Given the description of an element on the screen output the (x, y) to click on. 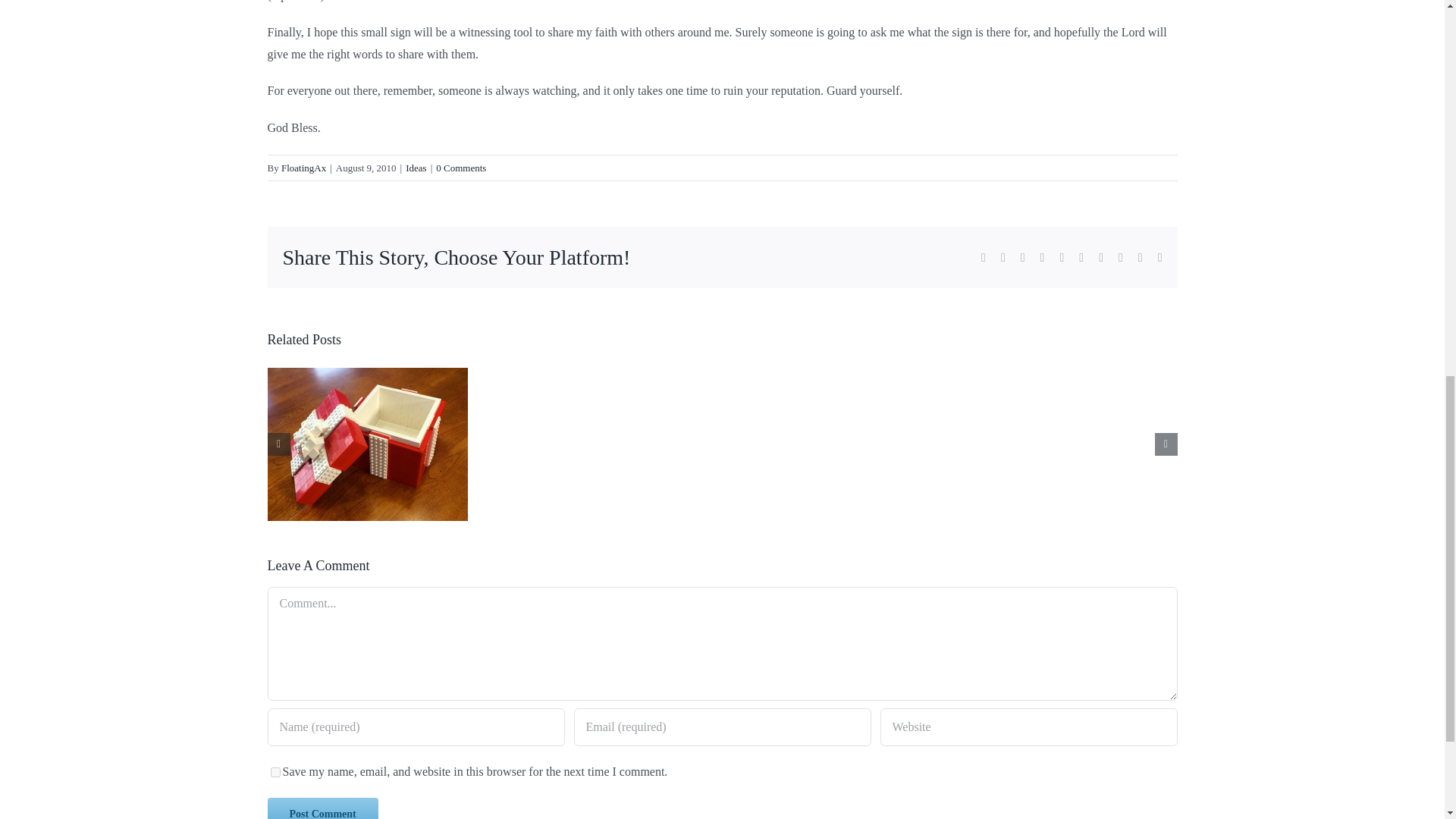
Posts by FloatingAx (303, 167)
FloatingAx (303, 167)
yes (274, 772)
Post Comment (321, 808)
0 Comments (460, 167)
Ideas (416, 167)
